Given the description of an element on the screen output the (x, y) to click on. 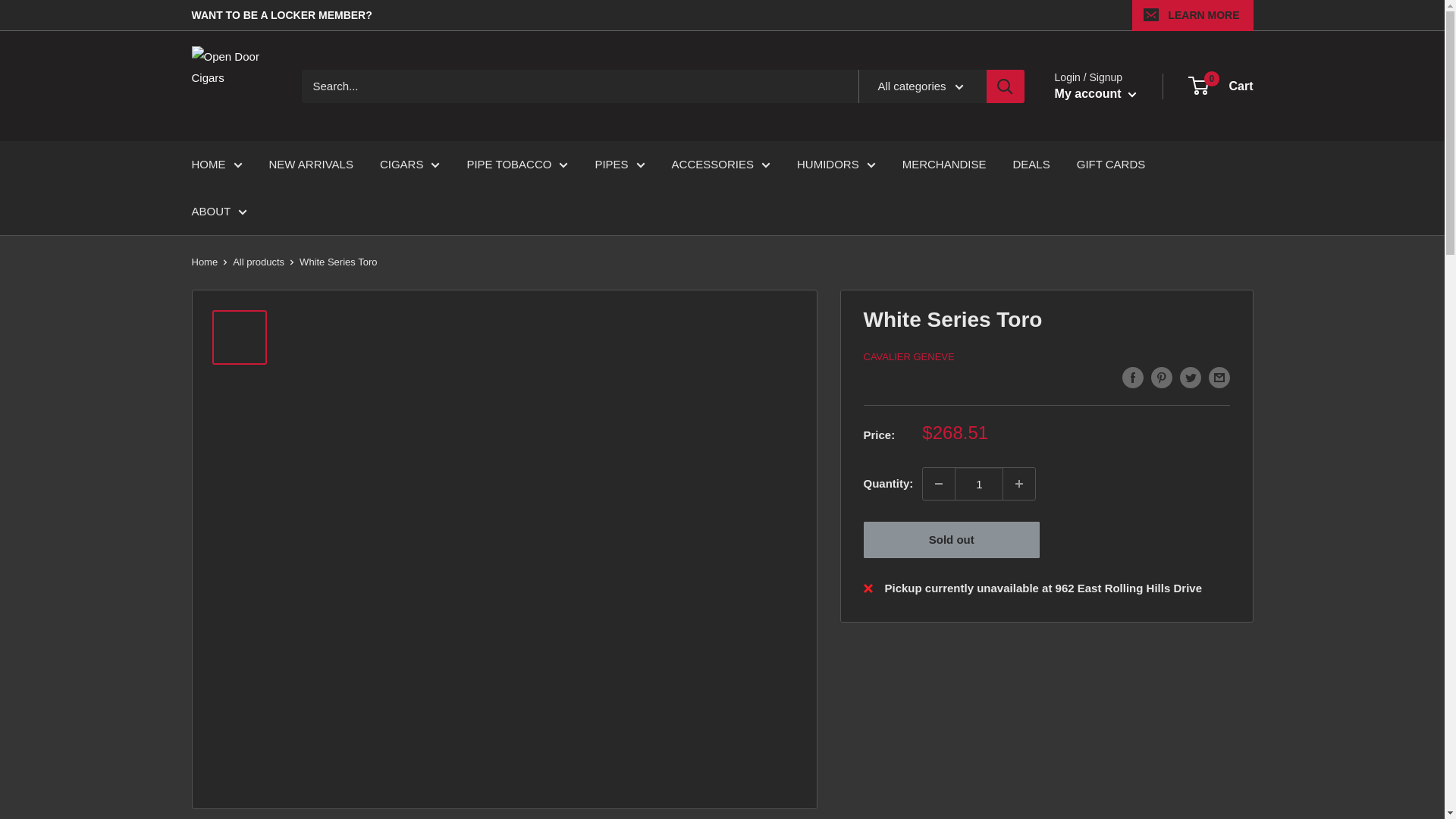
LEARN MORE (1192, 15)
1 (979, 483)
Increase quantity by 1 (1019, 483)
WANT TO BE A LOCKER MEMBER? (280, 15)
Decrease quantity by 1 (939, 483)
